Given the description of an element on the screen output the (x, y) to click on. 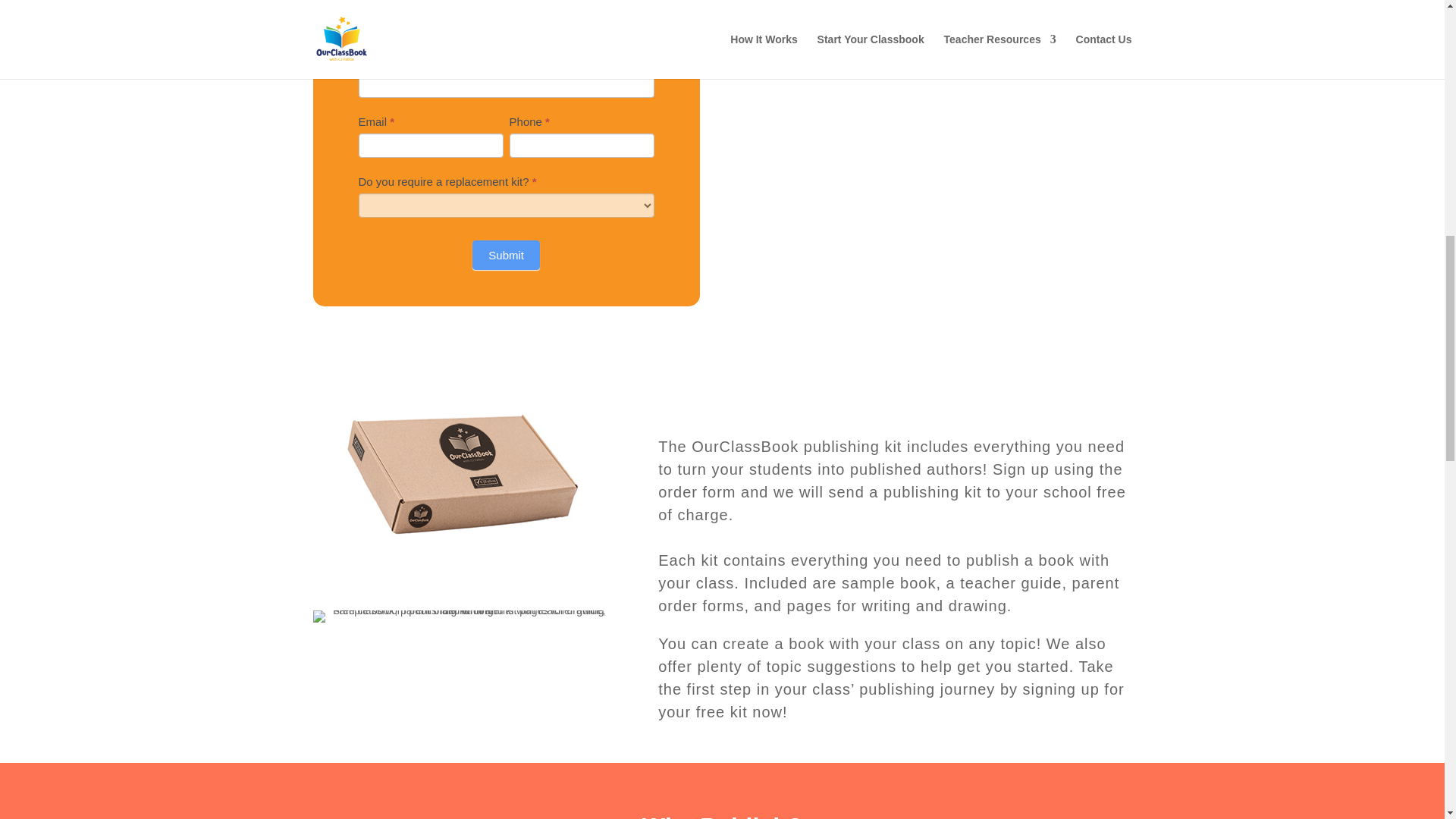
OurClassBook-free-publishing-kit (463, 473)
Submit (505, 255)
